Given the description of an element on the screen output the (x, y) to click on. 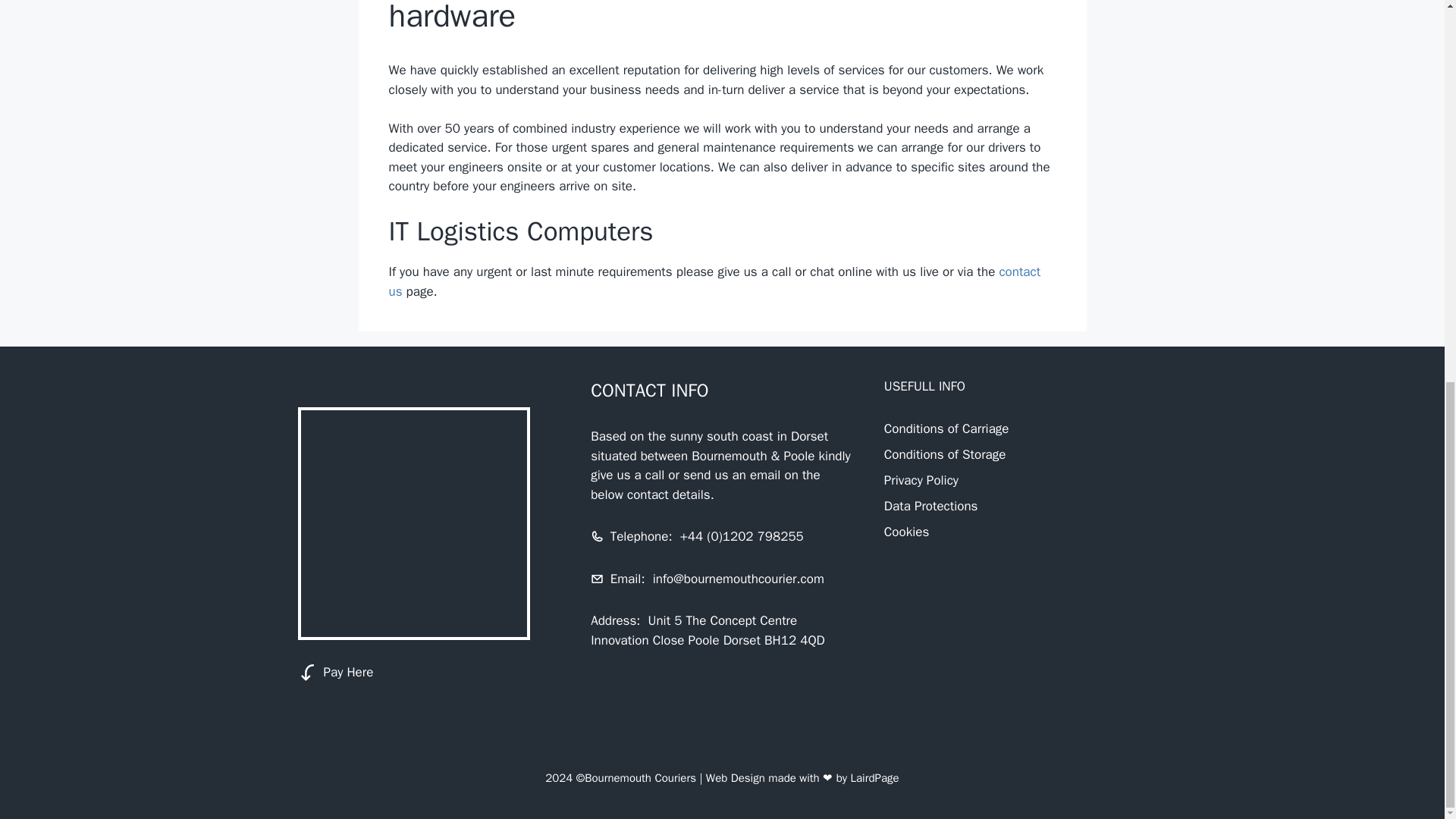
contact us (714, 281)
Conditions of Carriage (946, 428)
Conditions of Storage (944, 454)
Cookies (905, 531)
Privacy Policy (920, 480)
Data Protections (930, 505)
LairdPage (874, 777)
trucks (413, 523)
